Given the description of an element on the screen output the (x, y) to click on. 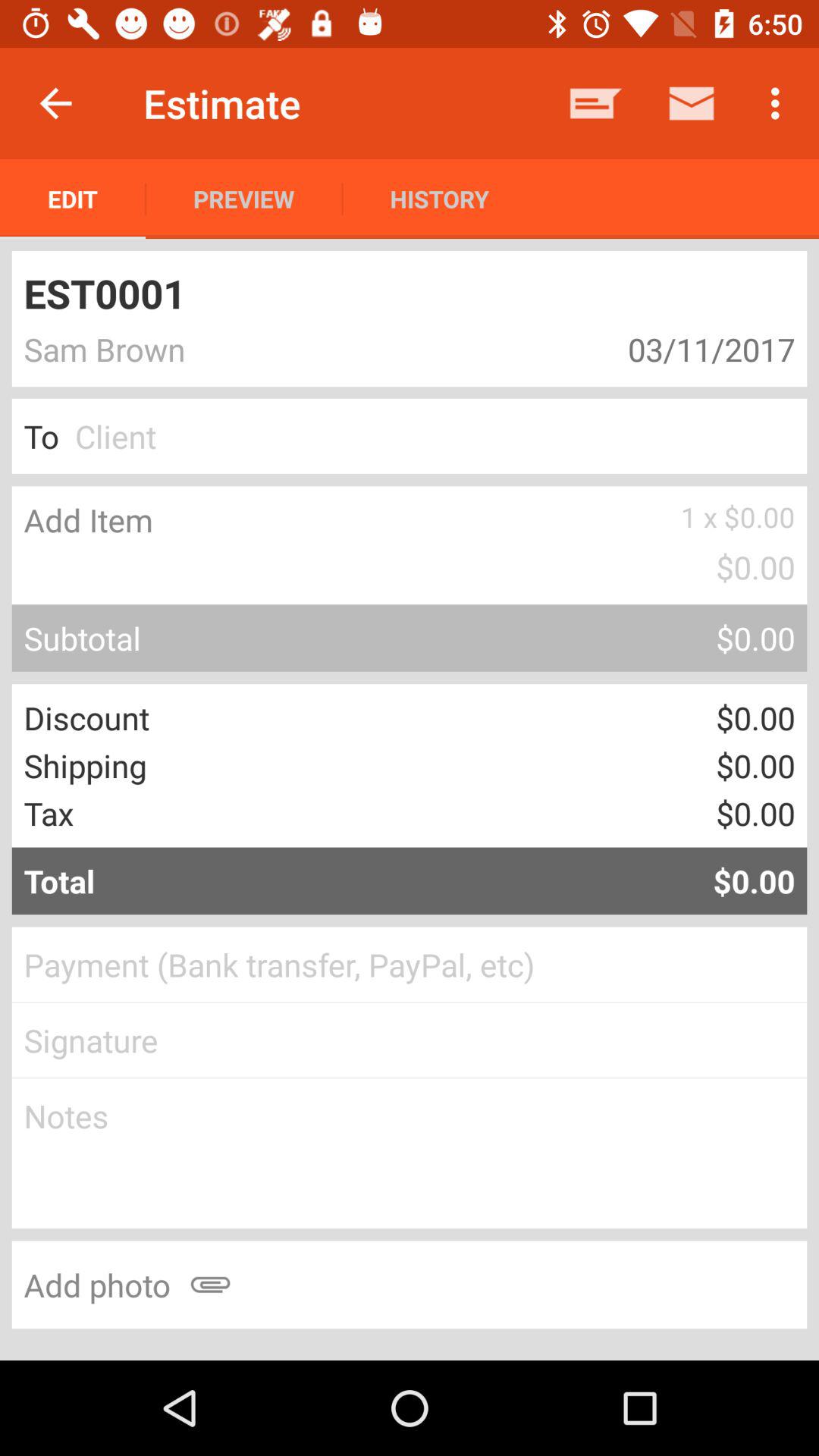
turn off icon to the left of estimate icon (55, 103)
